Given the description of an element on the screen output the (x, y) to click on. 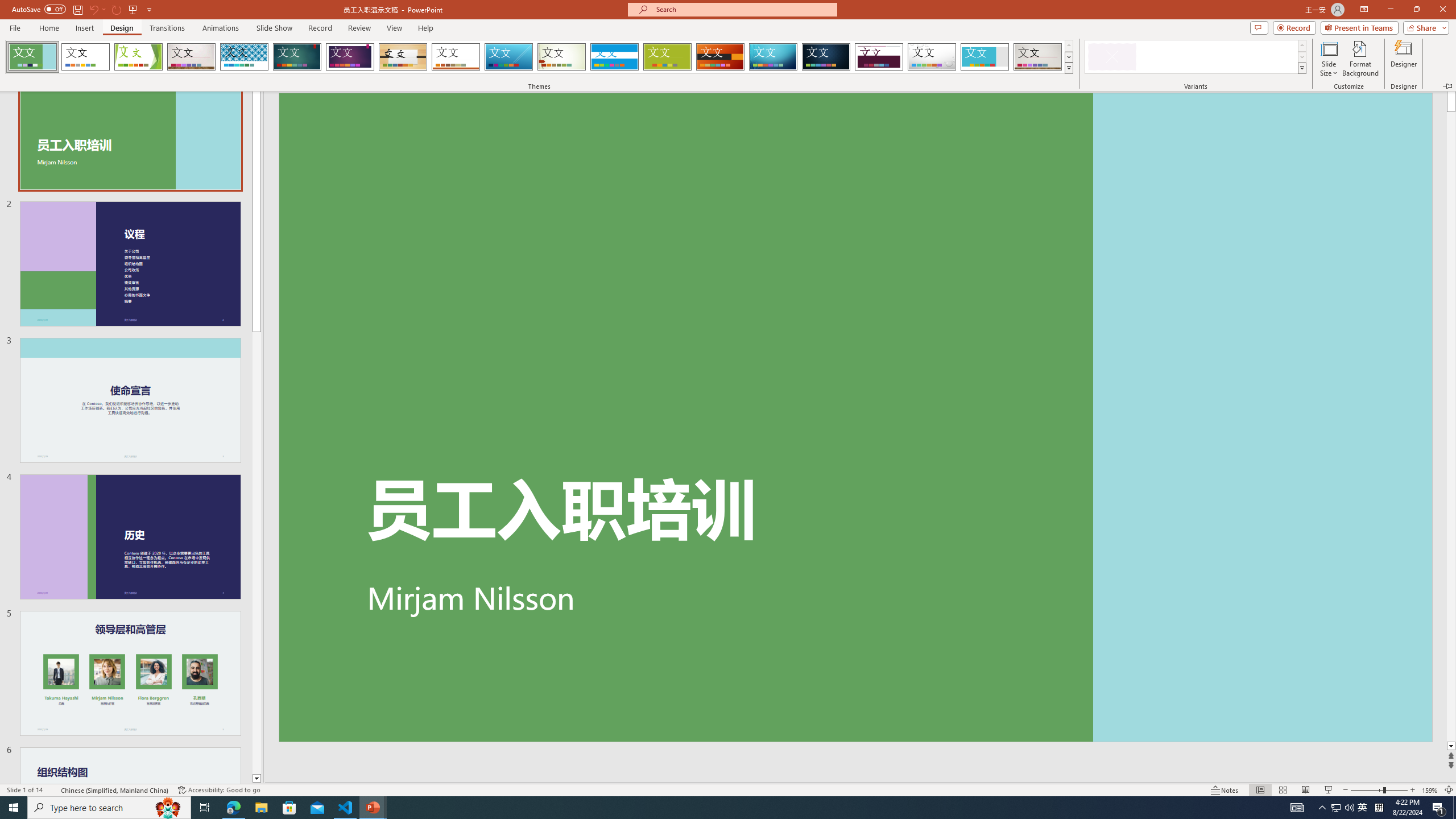
Zoom 159% (1430, 790)
